Given the description of an element on the screen output the (x, y) to click on. 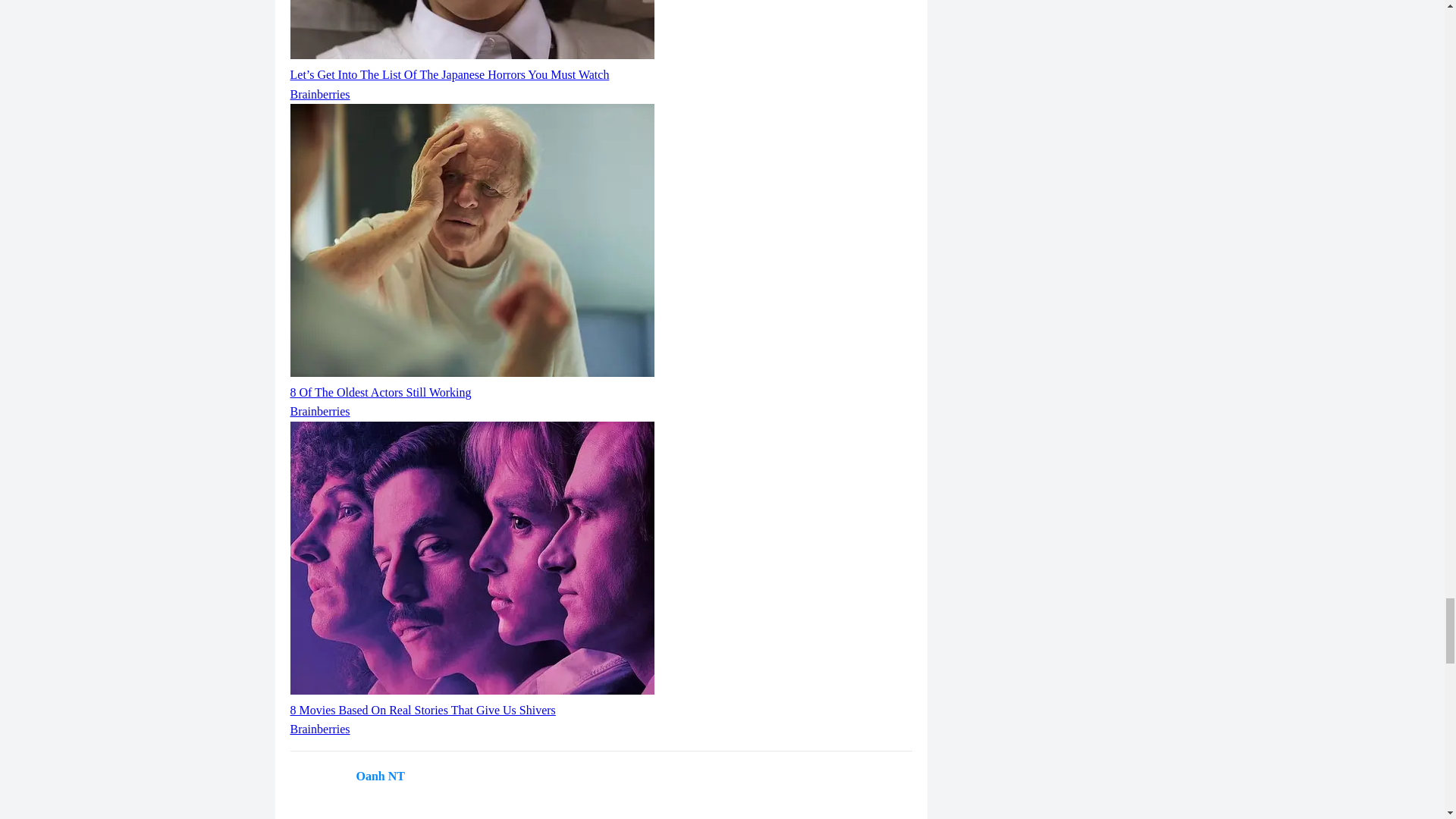
Oanh NT (380, 775)
